Given the description of an element on the screen output the (x, y) to click on. 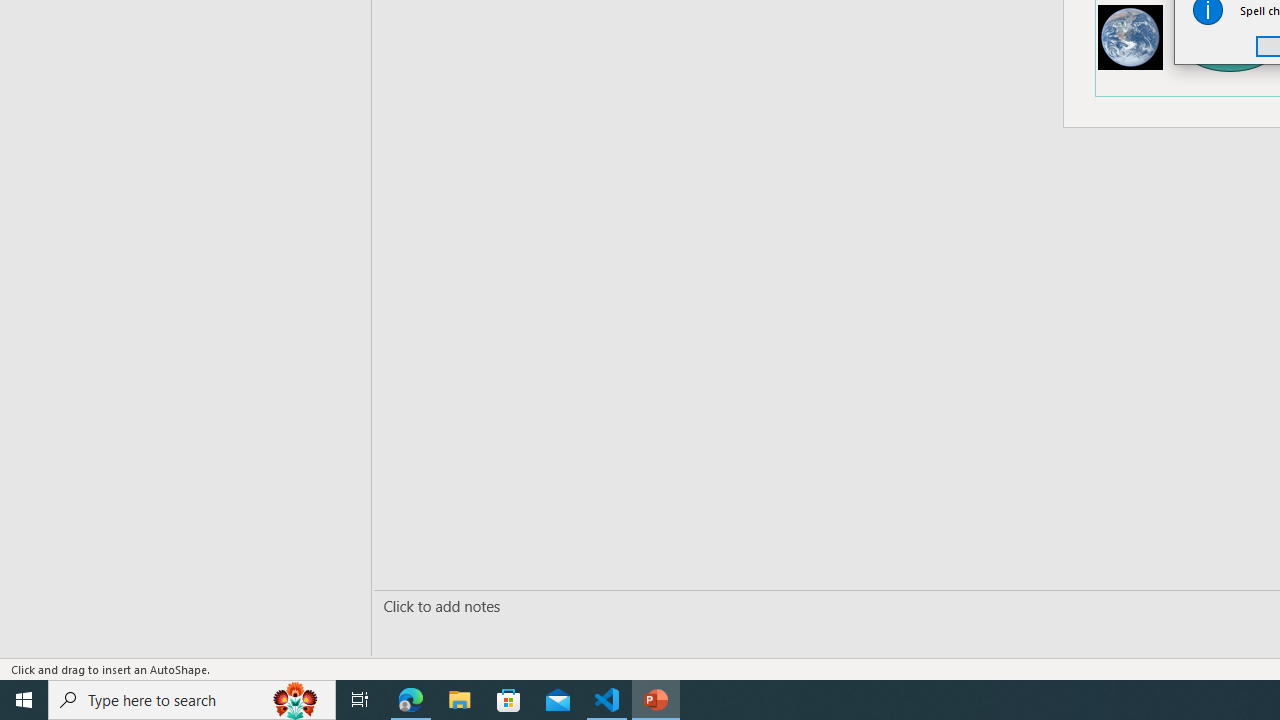
File Explorer (460, 699)
Start (24, 699)
Task View (359, 699)
Search highlights icon opens search home window (295, 699)
Visual Studio Code - 1 running window (607, 699)
Type here to search (191, 699)
Microsoft Edge - 1 running window (411, 699)
PowerPoint - 1 running window (656, 699)
Microsoft Store (509, 699)
